Given the description of an element on the screen output the (x, y) to click on. 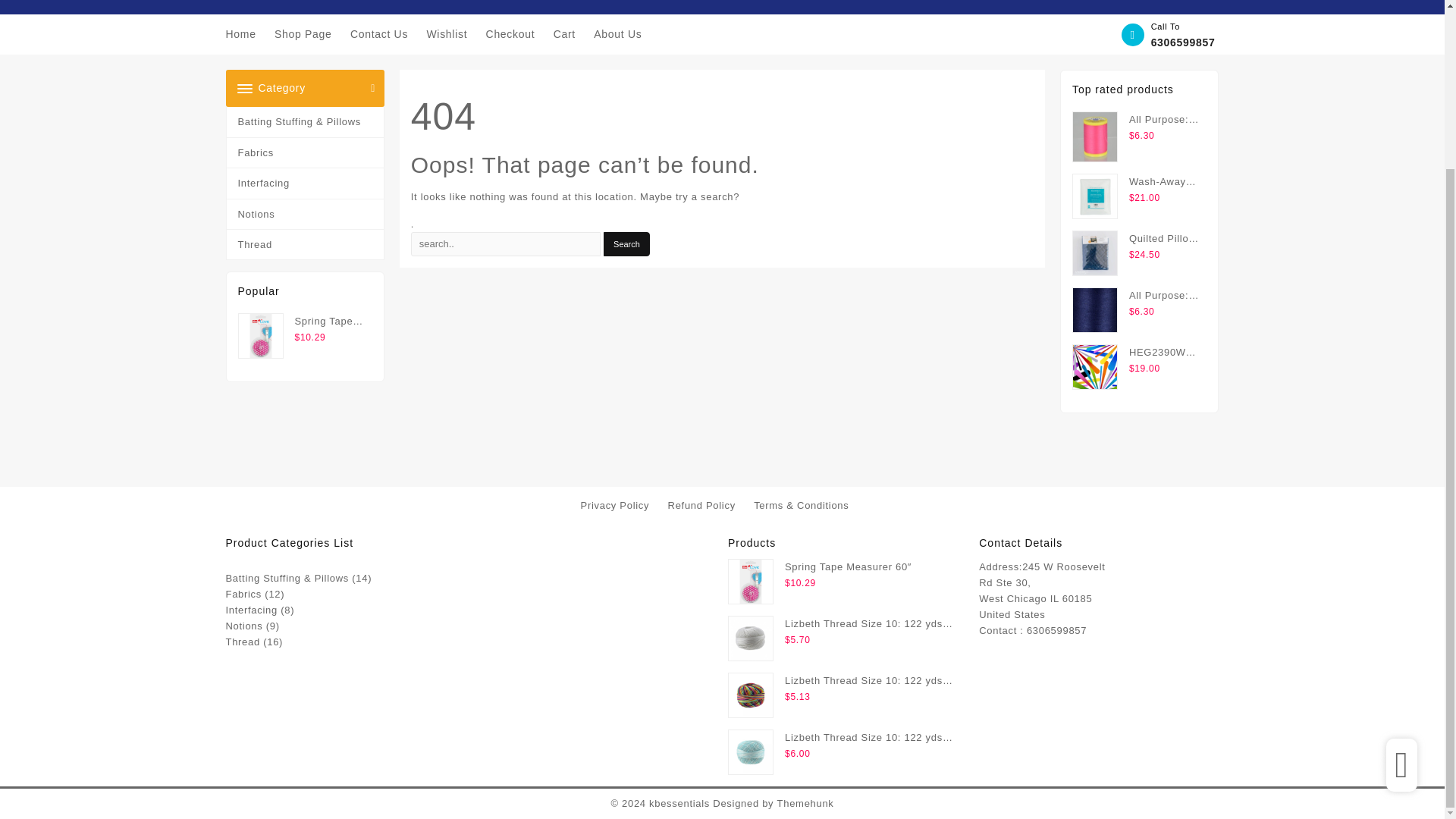
Wishlist (453, 34)
Shop Page (311, 34)
Home (247, 34)
Contact Us (386, 34)
Search (626, 243)
Checkout (518, 34)
